Given the description of an element on the screen output the (x, y) to click on. 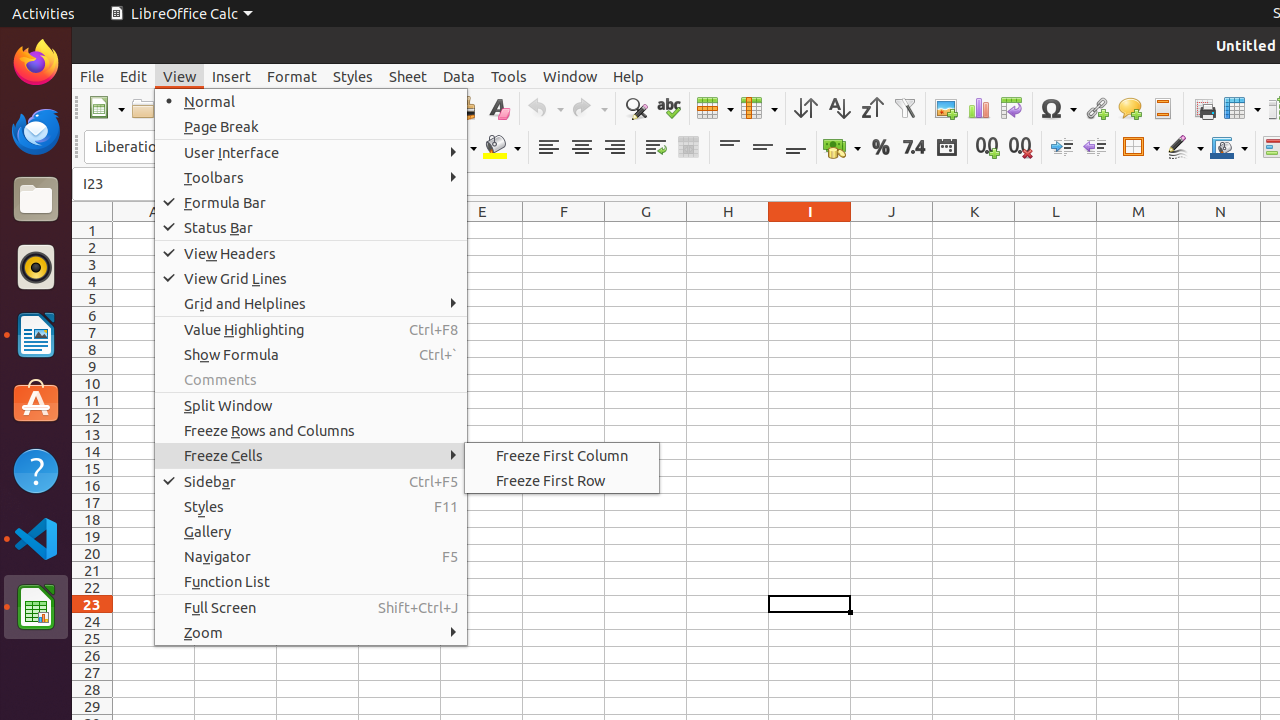
Hyperlink Element type: toggle-button (1096, 108)
Toolbars Element type: menu (311, 177)
Comment Element type: push-button (1129, 108)
Tools Element type: menu (509, 76)
